Given the description of an element on the screen output the (x, y) to click on. 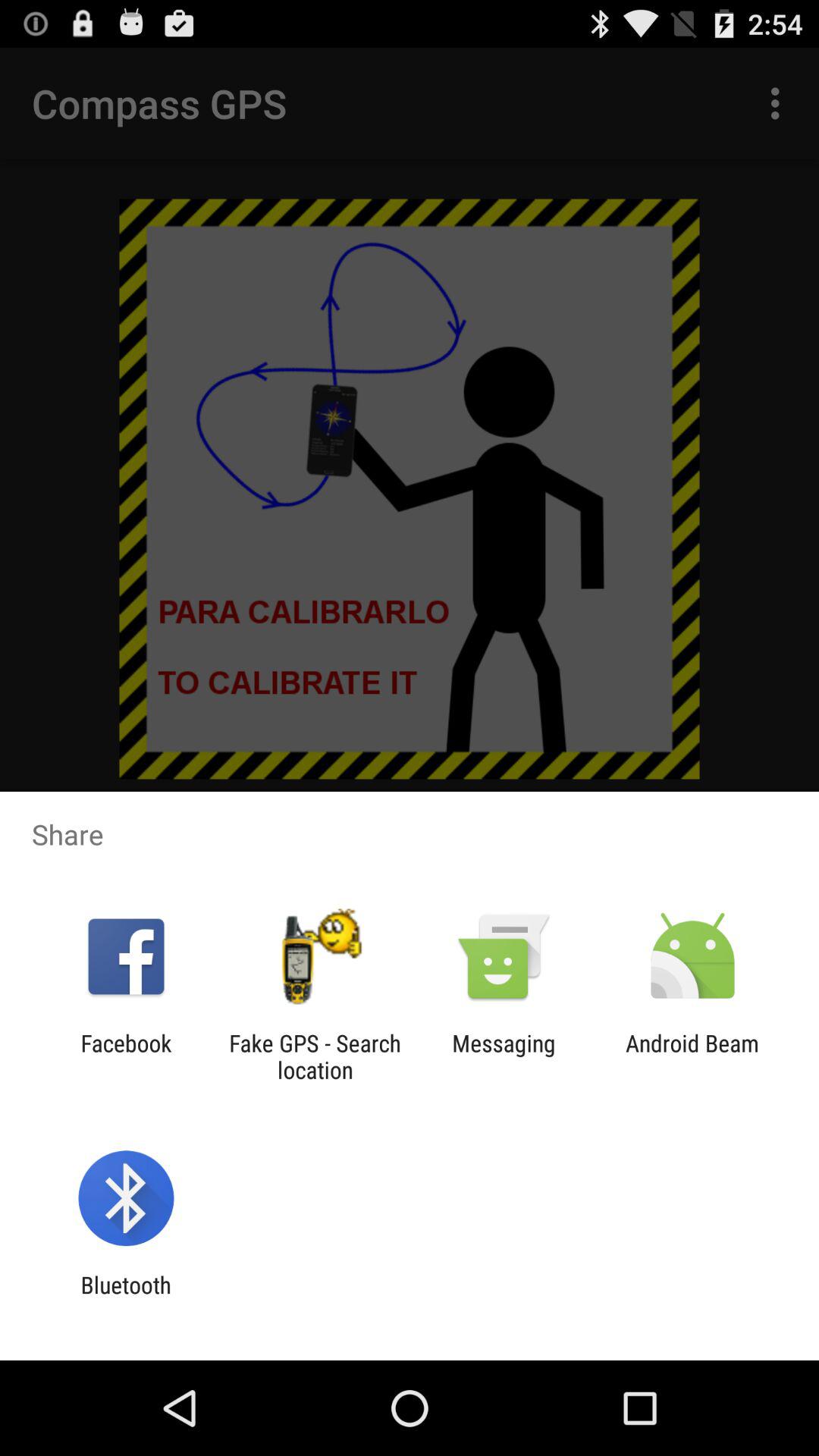
turn off the app to the left of fake gps search (125, 1056)
